Given the description of an element on the screen output the (x, y) to click on. 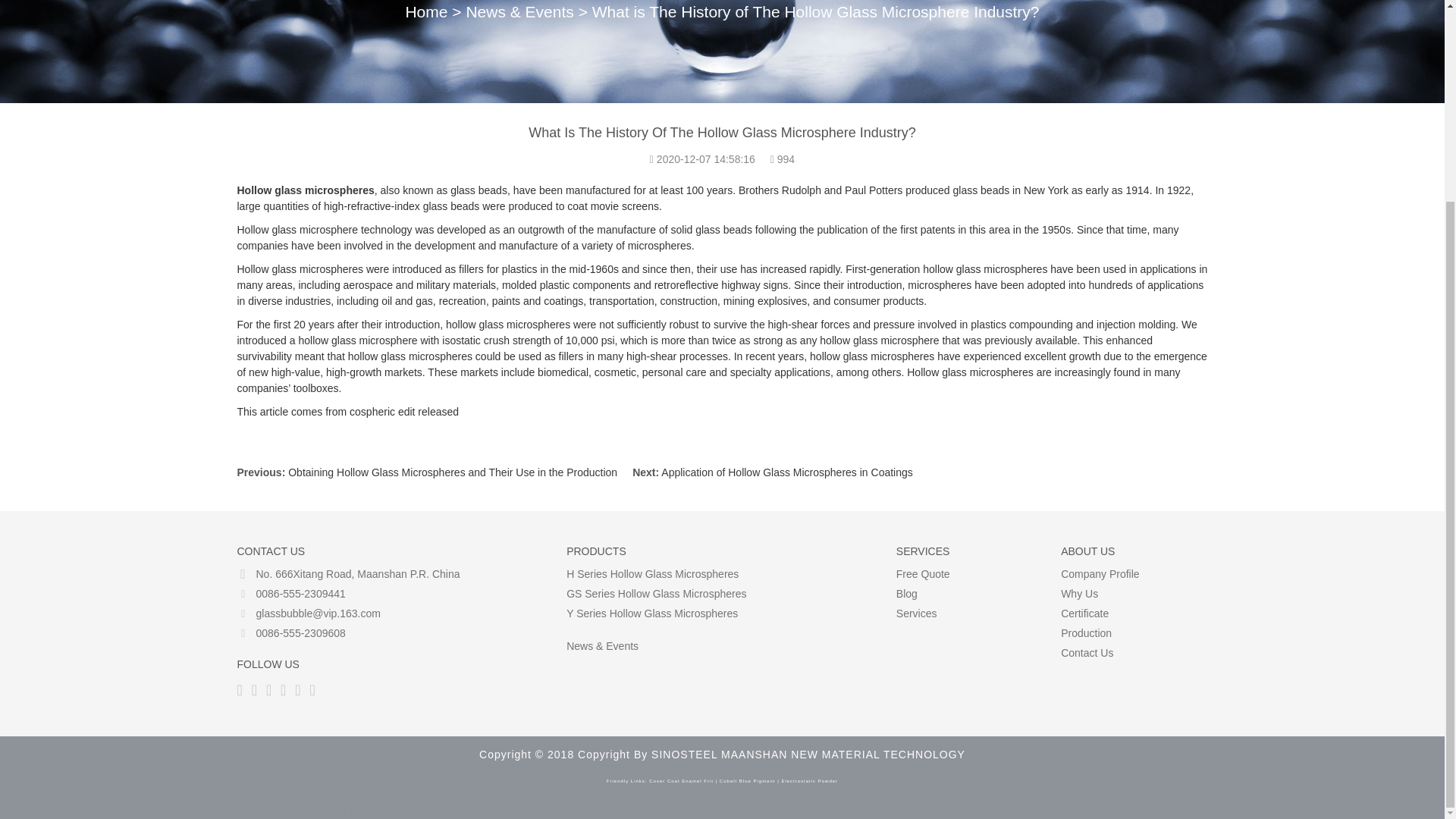
Hollow glass microspheres (304, 190)
Free Quote (923, 573)
GS Series Hollow Glass Microspheres (655, 593)
Blog (906, 593)
Y Series Hollow Glass Microspheres (652, 613)
H Series Hollow Glass Microspheres (652, 573)
Production (1086, 633)
Application of Hollow Glass Microspheres in Coatings (786, 472)
Why Us (1079, 593)
Certificate (1084, 613)
Home (425, 11)
Services (916, 613)
Company Profile (1100, 573)
